Given the description of an element on the screen output the (x, y) to click on. 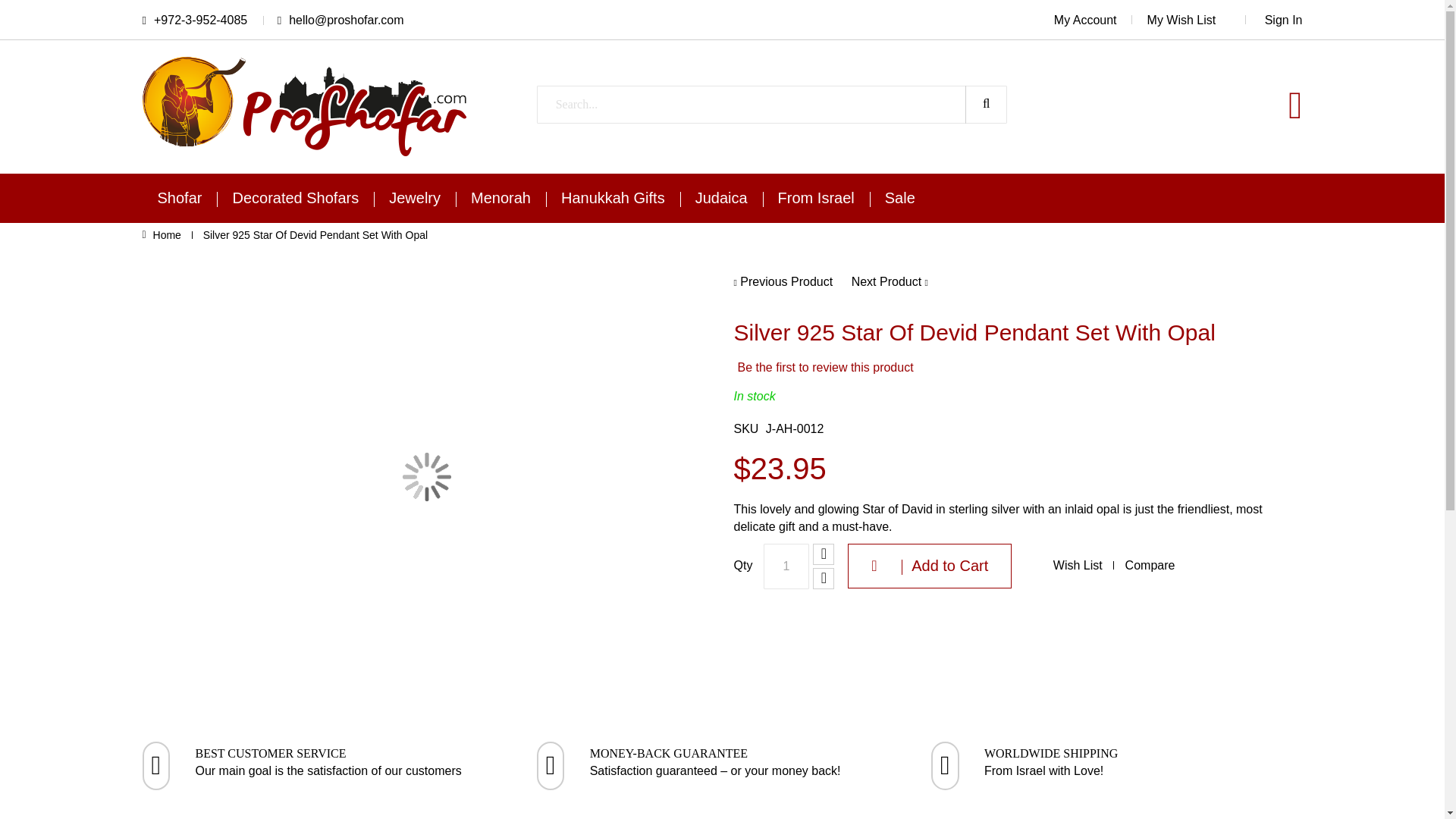
Shofar (179, 197)
Magento Commerce (305, 64)
Jewelry (414, 197)
Menorah (500, 197)
Decorated Shofars (295, 197)
Decorated Shofars (295, 197)
My Wish List (1196, 19)
My Account (1093, 19)
Sign In (1284, 19)
Search (986, 104)
Hanukkah Gifts (612, 197)
Search (986, 104)
Shofar (179, 197)
1 (785, 565)
